Given the description of an element on the screen output the (x, y) to click on. 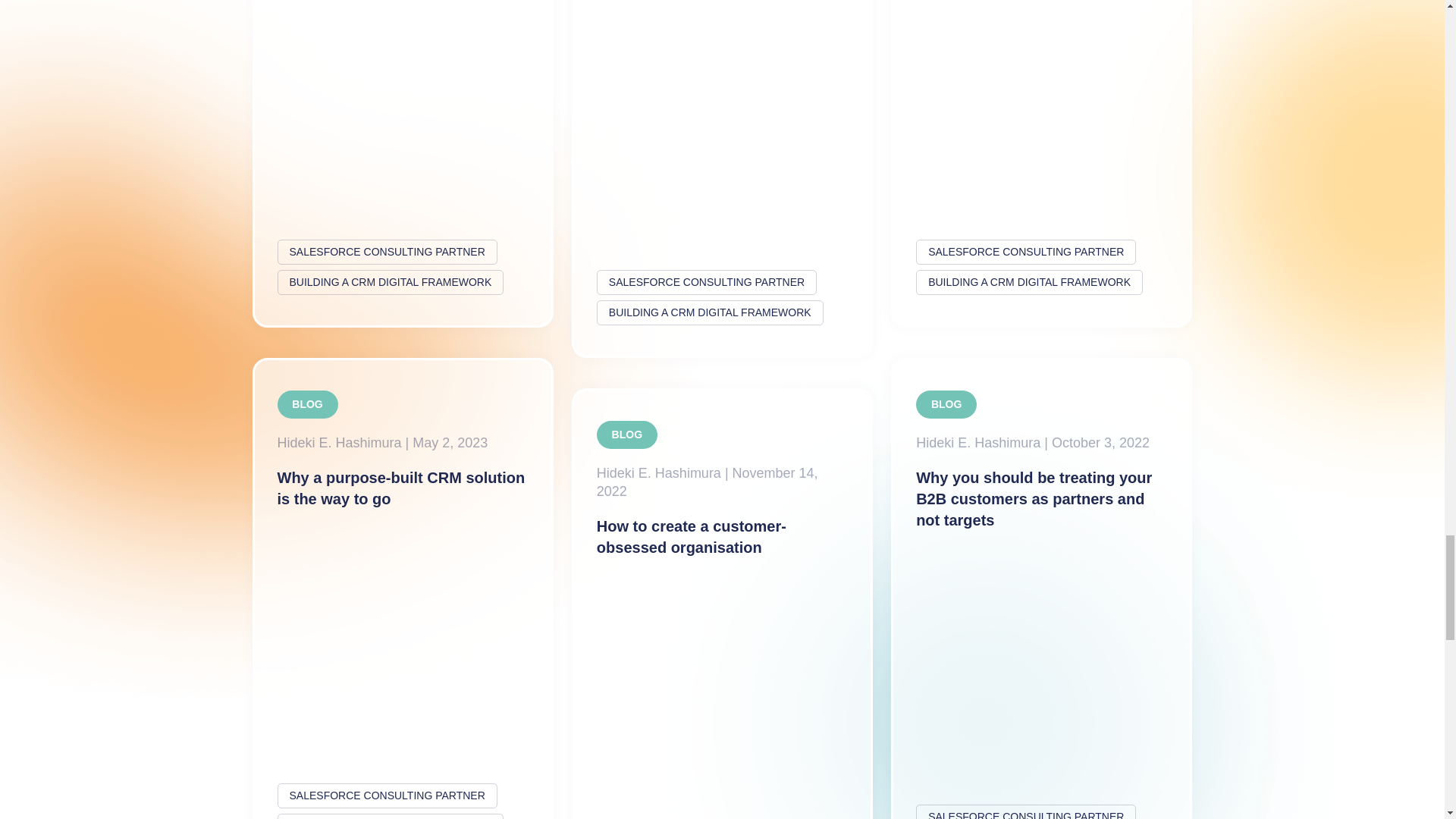
The Role of CRM in Accelerating Digital Transformation (402, 163)
